Given the description of an element on the screen output the (x, y) to click on. 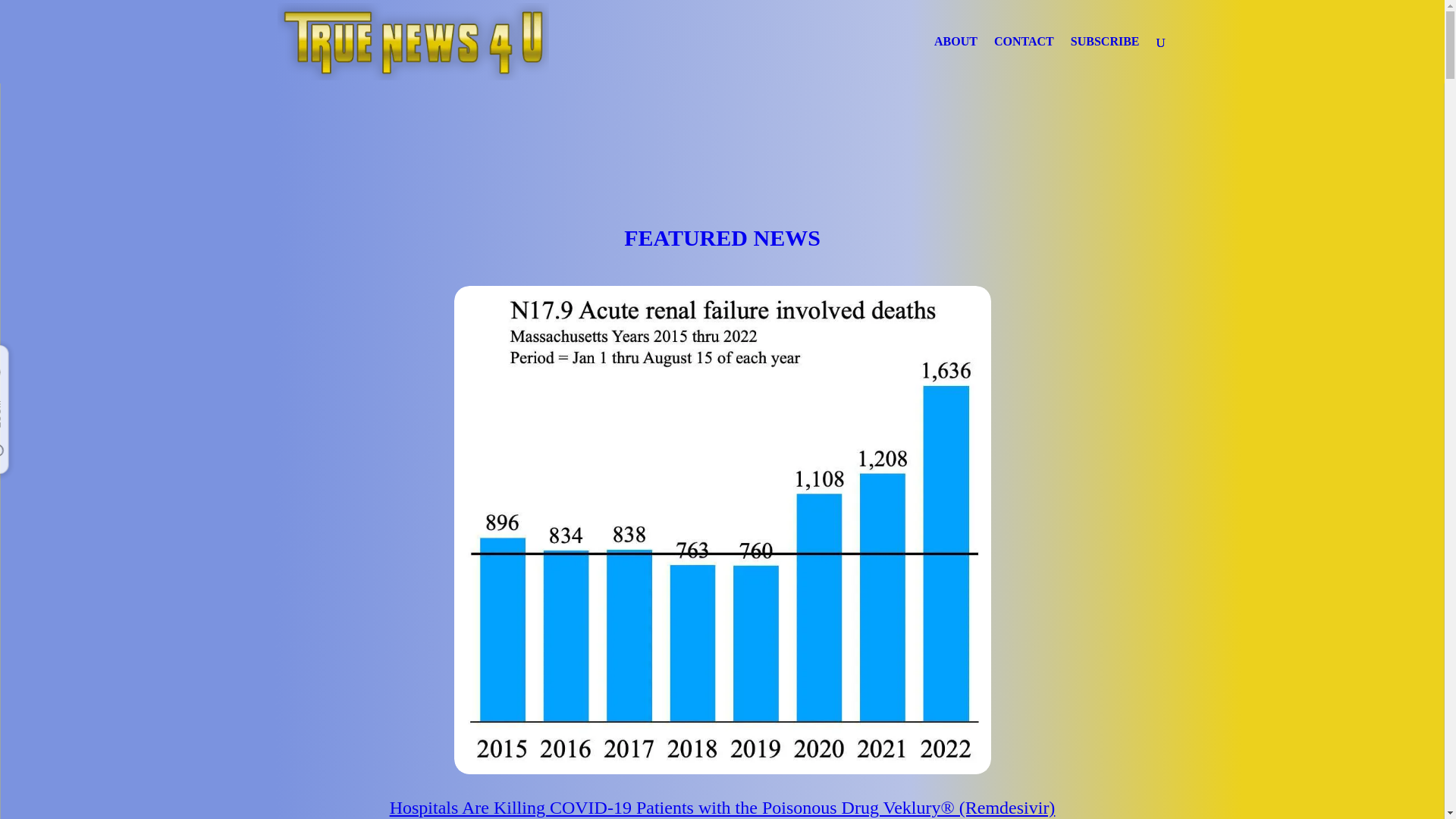
CONTACT (1024, 59)
ABOUT (955, 59)
SUBSCRIBE (1105, 59)
